Given the description of an element on the screen output the (x, y) to click on. 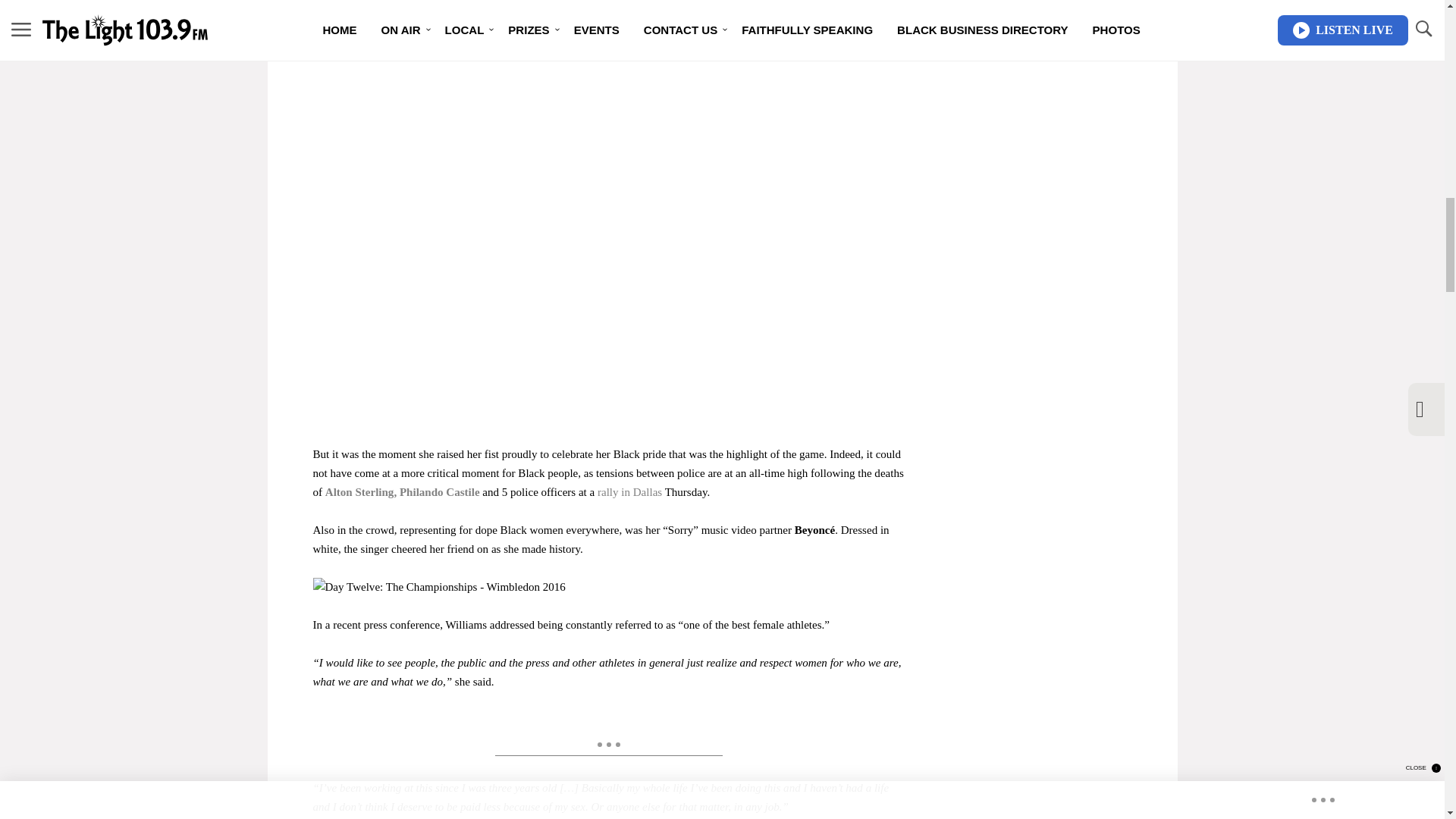
Alton Sterling, (361, 491)
rally in Dallas (630, 491)
Philando Castile (439, 491)
